Given the description of an element on the screen output the (x, y) to click on. 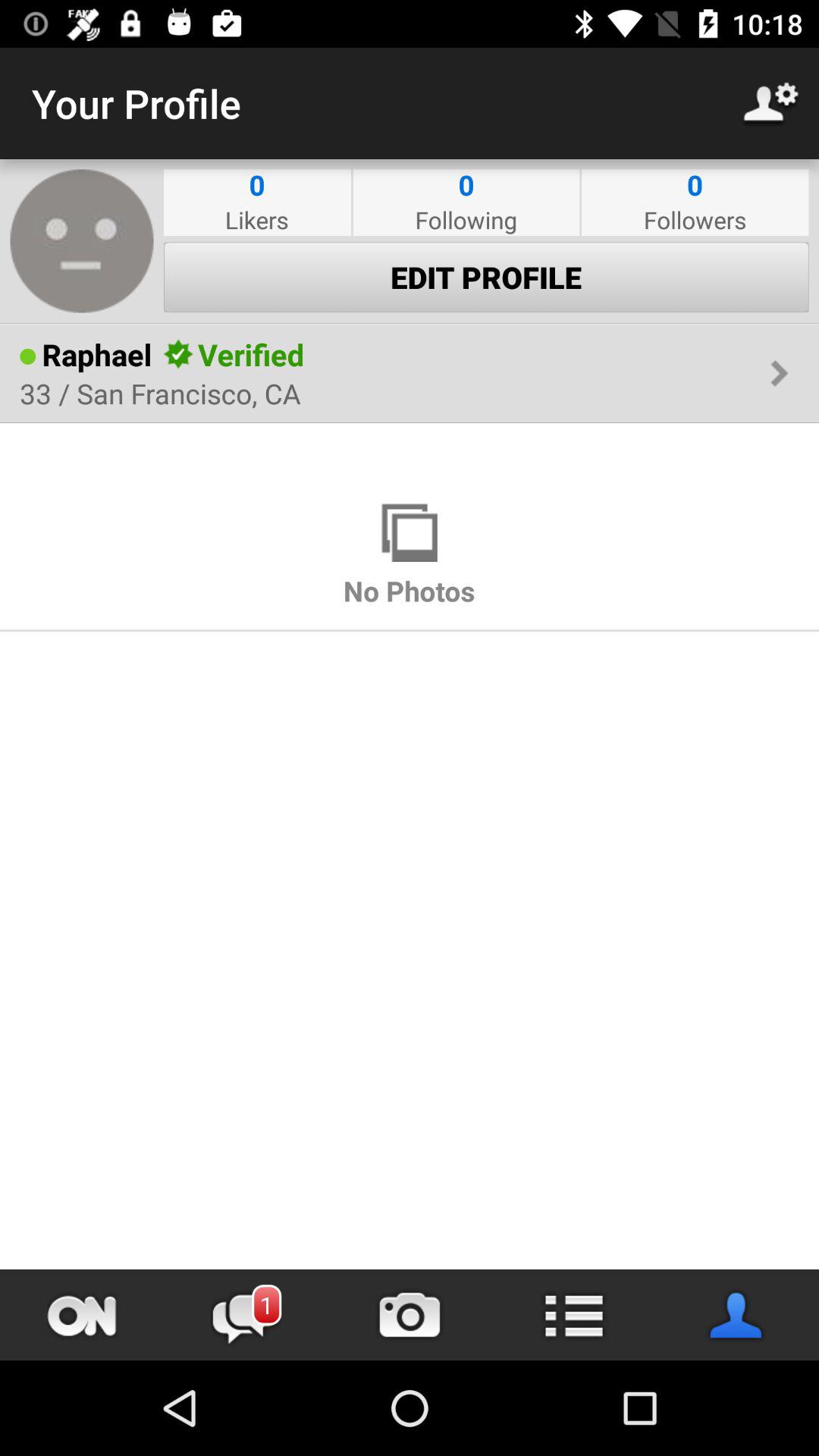
open contacts (737, 1315)
